Given the description of an element on the screen output the (x, y) to click on. 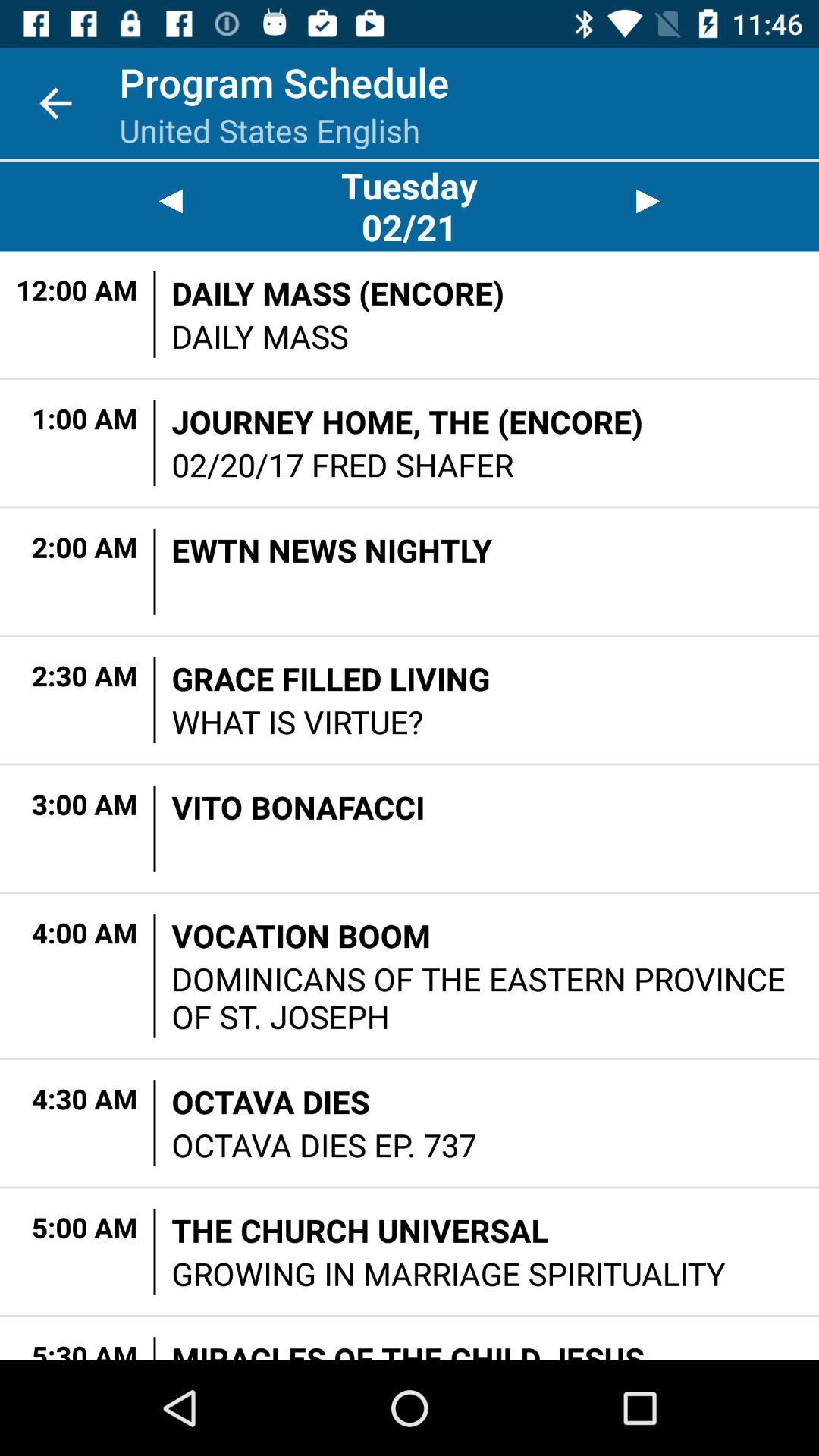
choose item above the miracles of the icon (448, 1273)
